Given the description of an element on the screen output the (x, y) to click on. 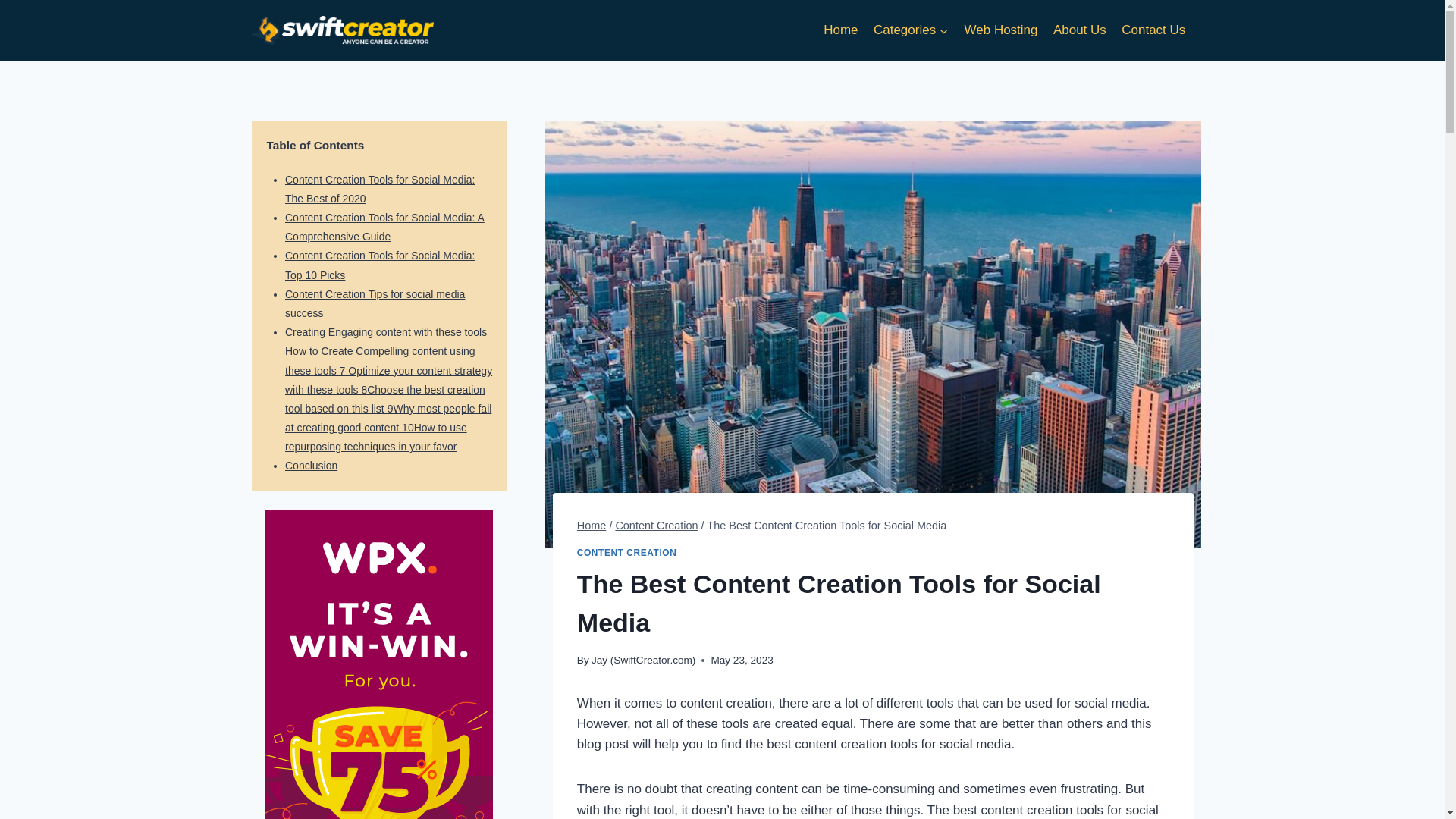
Categories (911, 30)
About Us (1079, 30)
CONTENT CREATION (626, 552)
Web Hosting (1000, 30)
Content Creation (655, 525)
Home (591, 525)
Contact Us (1152, 30)
Home (840, 30)
